Given the description of an element on the screen output the (x, y) to click on. 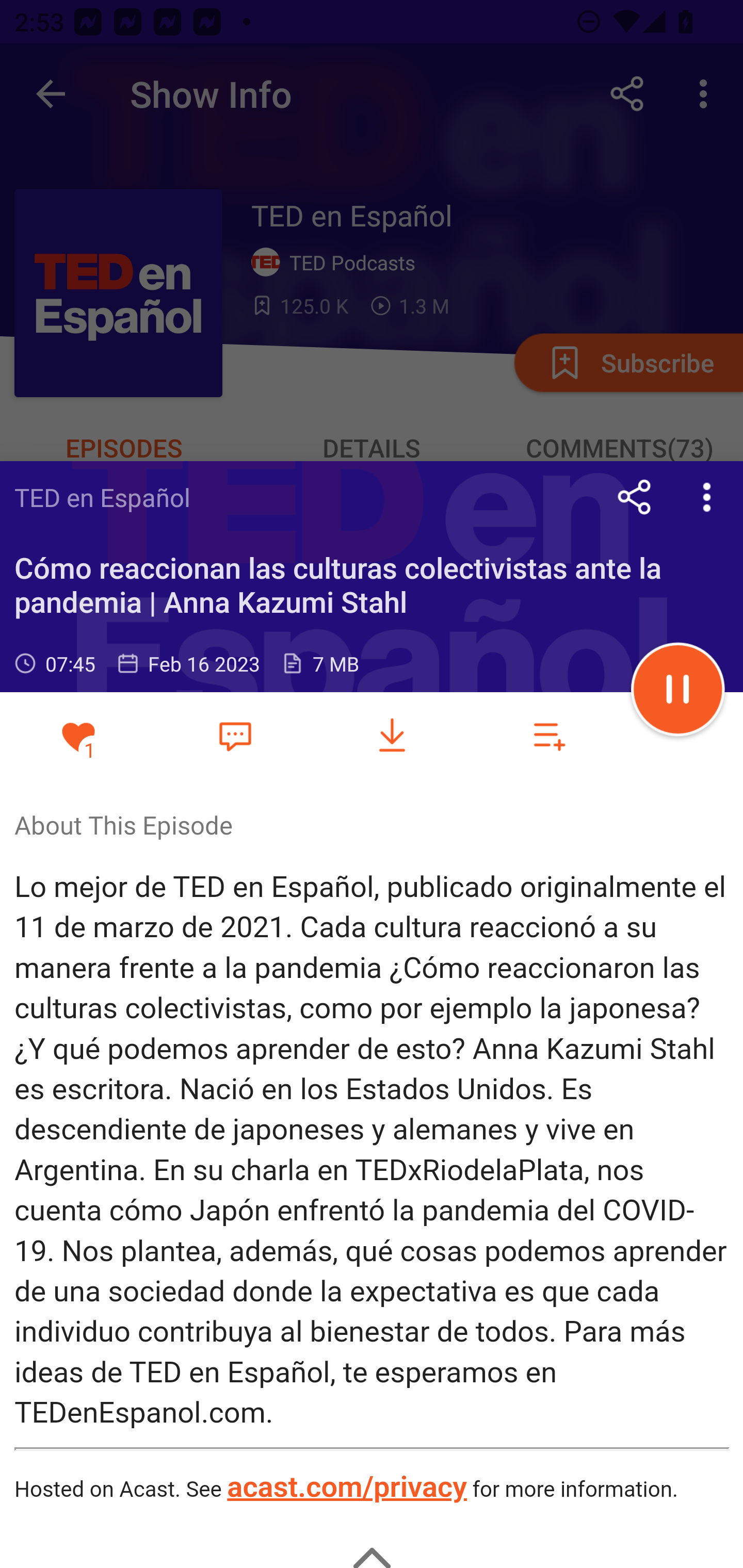
Share (634, 496)
more options (706, 496)
Pause (677, 692)
Favorite (234, 735)
Remove from Favorites (78, 735)
Download (391, 735)
Add to playlist (548, 735)
acast.com/privacy (346, 1488)
